Given the description of an element on the screen output the (x, y) to click on. 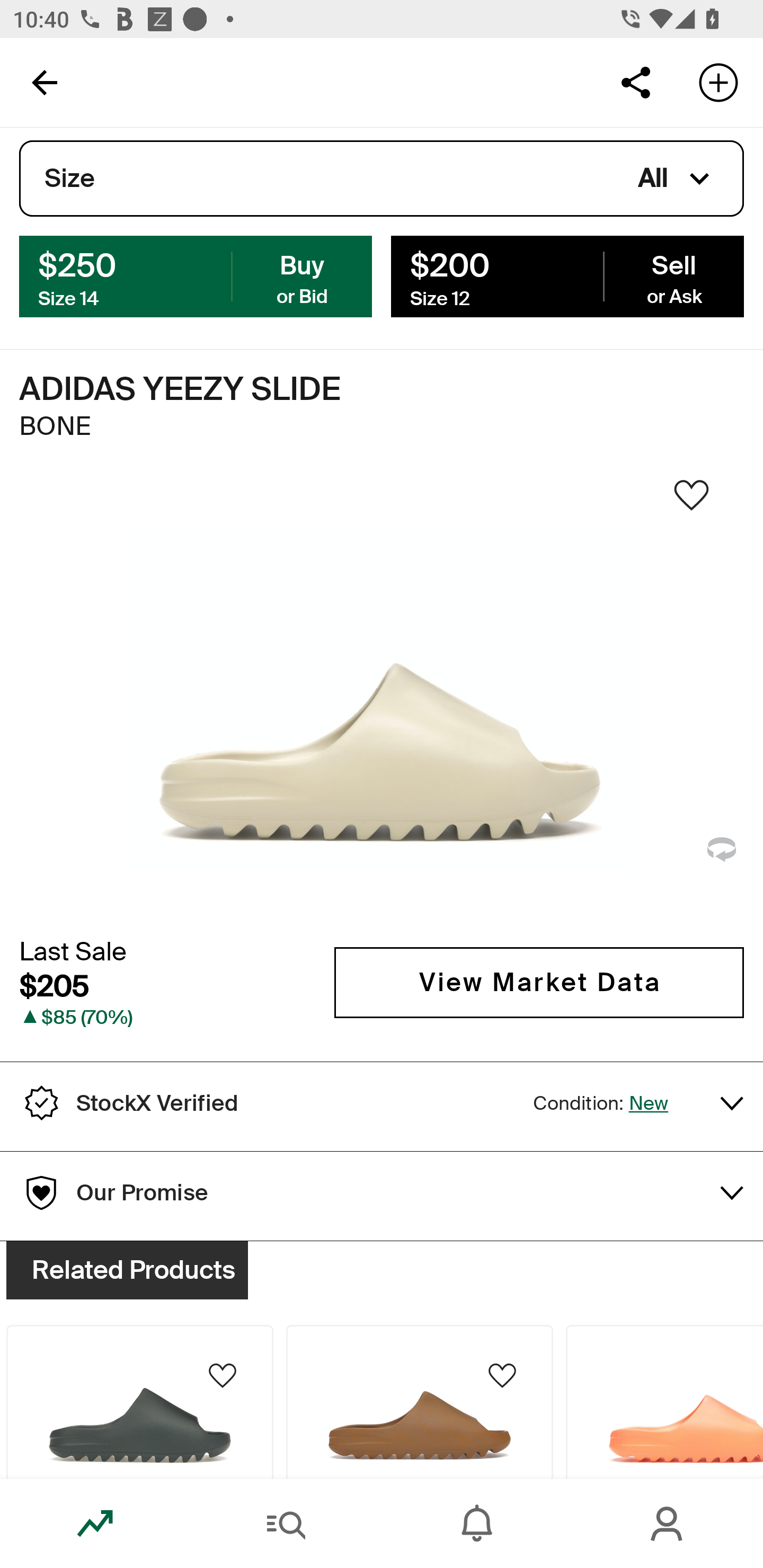
Share (635, 81)
Add (718, 81)
Size All (381, 178)
$250 Buy Size 14 or Bid (195, 275)
$200 Sell Size 12 or Ask (566, 275)
Sneaker Image (381, 699)
View Market Data (538, 982)
Product Image Jordan 11 Retro DMP Gratitude (2023) (139, 1349)
Product Image (139, 1401)
Product Image (419, 1401)
Product Image (664, 1401)
Search (285, 1523)
Inbox (476, 1523)
Account (667, 1523)
